Given the description of an element on the screen output the (x, y) to click on. 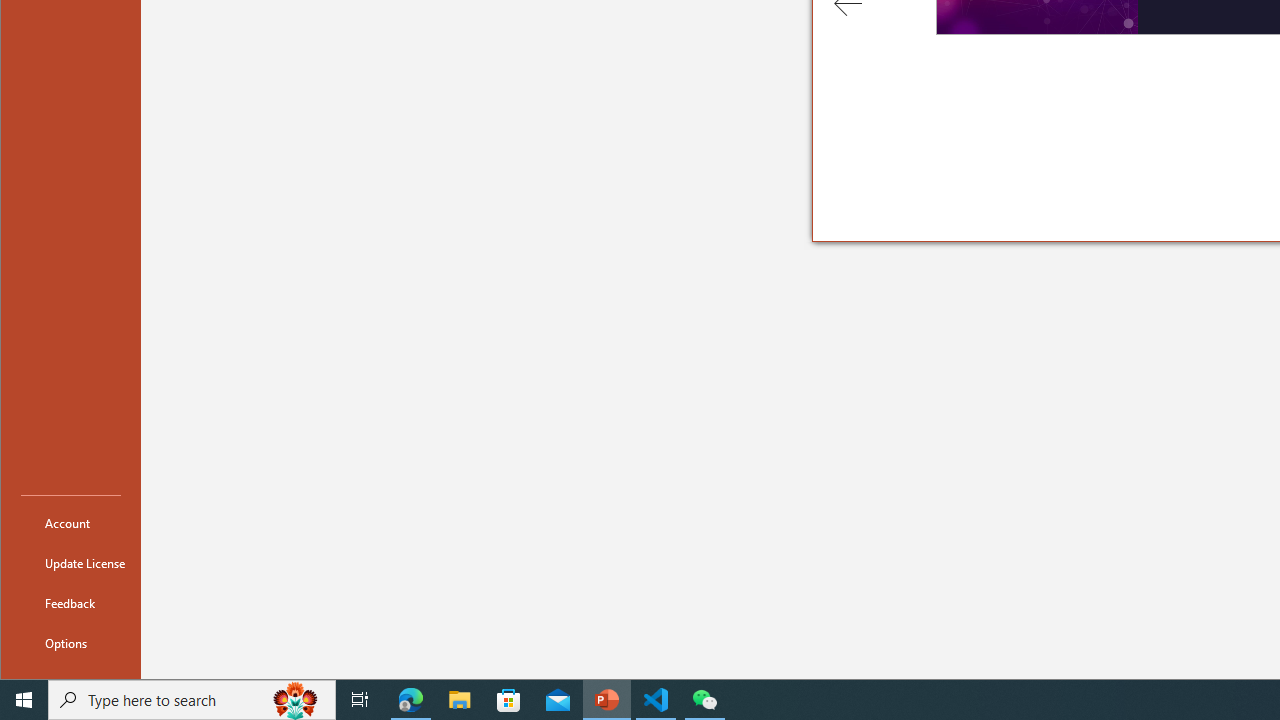
Account (70, 522)
Update License (70, 562)
Options (70, 642)
Microsoft Edge - 1 running window (411, 699)
Feedback (70, 602)
WeChat - 1 running window (704, 699)
